Given the description of an element on the screen output the (x, y) to click on. 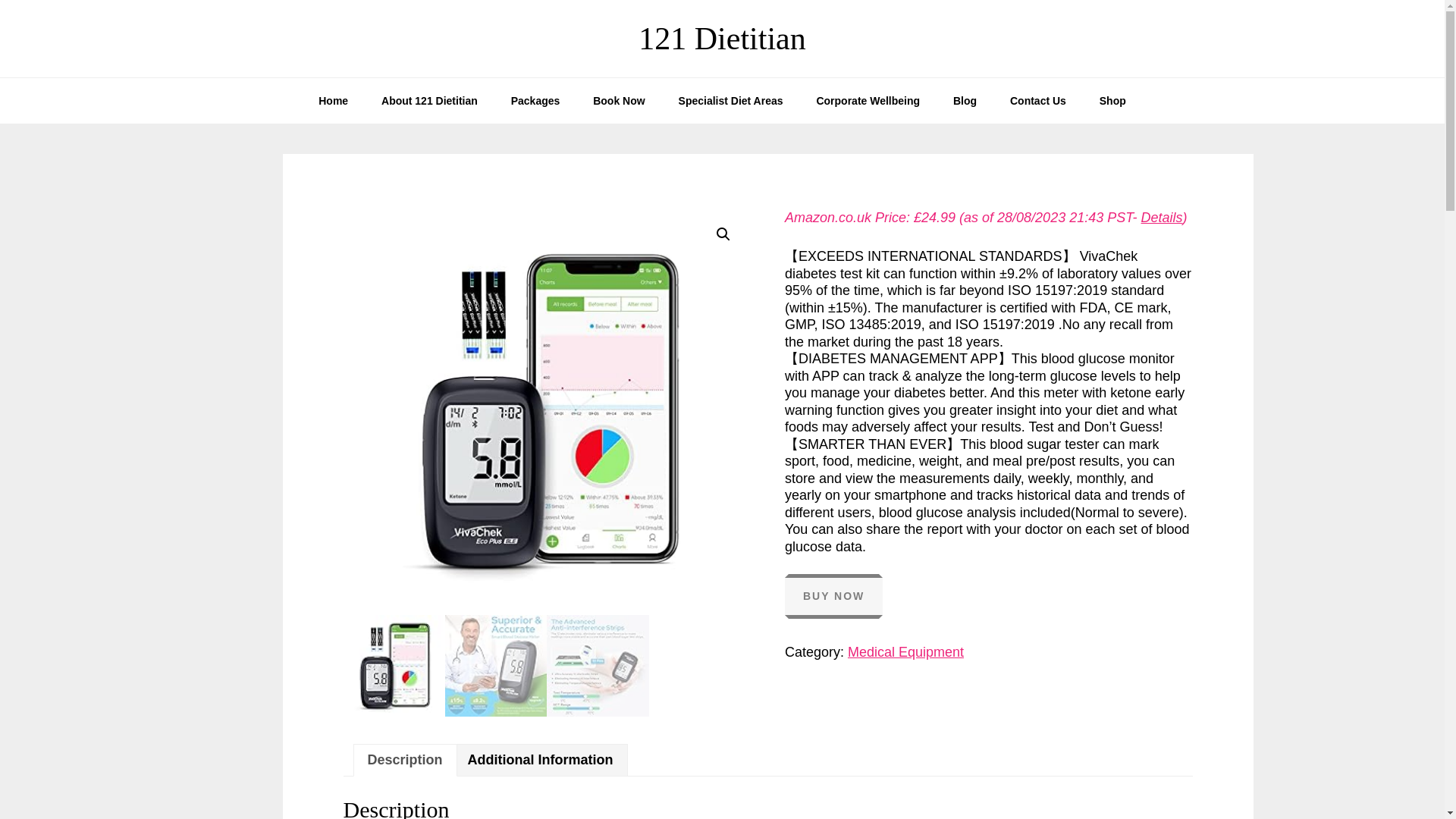
About 121 Dietitian (429, 100)
Home (332, 100)
Shop (1112, 100)
Contact Us (1037, 100)
Book Now (618, 100)
Specialist Diet Areas (730, 100)
121 Dietitian (722, 38)
Details (1161, 217)
Blog (964, 100)
Packages (535, 100)
BUY NOW (833, 596)
Corporate Wellbeing (867, 100)
